Given the description of an element on the screen output the (x, y) to click on. 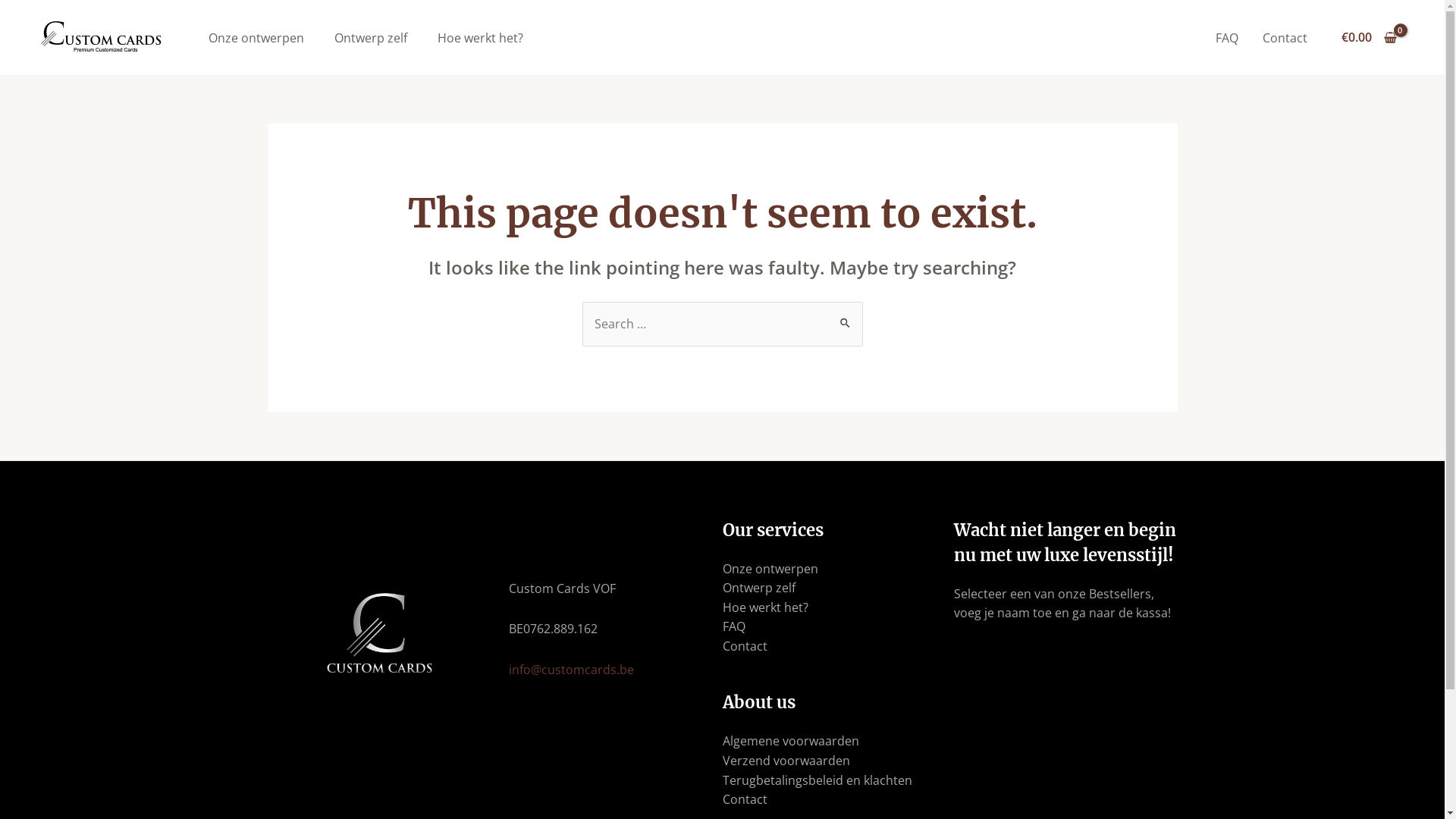
Terugbetalingsbeleid en klachten Element type: text (816, 779)
info@customcards.be Element type: text (570, 669)
Contact Element type: text (743, 798)
Ontwerp zelf Element type: text (757, 587)
Contact Element type: text (1284, 37)
Onze ontwerpen Element type: text (256, 37)
Algemene voorwaarden Element type: text (789, 740)
FAQ Element type: text (732, 626)
Search Element type: text (845, 316)
Ontwerp zelf Element type: text (370, 37)
FAQ Element type: text (1226, 37)
Hoe werkt het? Element type: text (764, 607)
Verzend voorwaarden Element type: text (785, 760)
Hoe werkt het? Element type: text (480, 37)
Contact Element type: text (743, 645)
Onze ontwerpen Element type: text (769, 568)
